Given the description of an element on the screen output the (x, y) to click on. 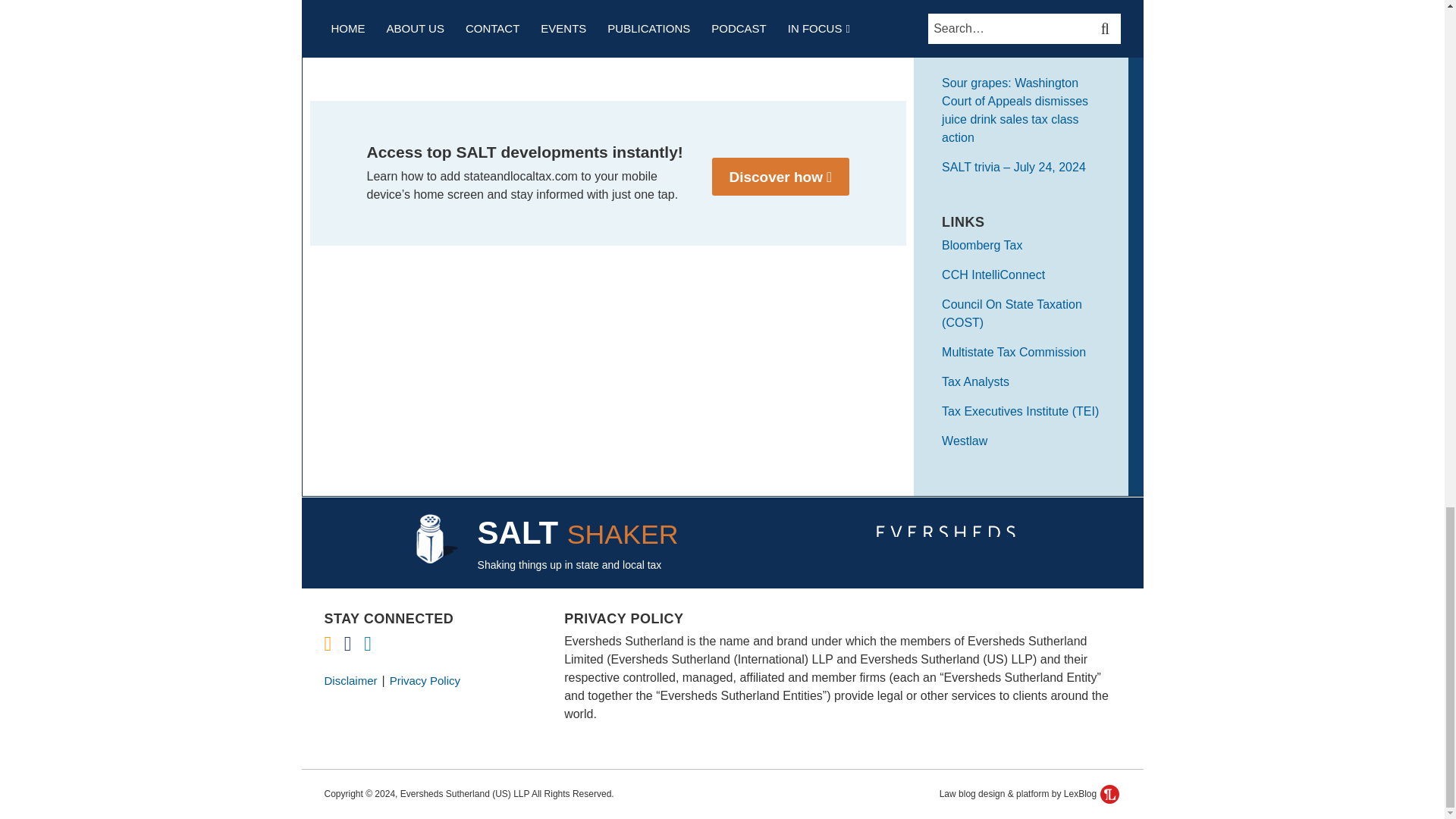
LexBlog Logo (1109, 793)
Managing the growing MTC Audit Program (434, 11)
NY high court to review tax on co.'s ad analysis services (781, 18)
